Given the description of an element on the screen output the (x, y) to click on. 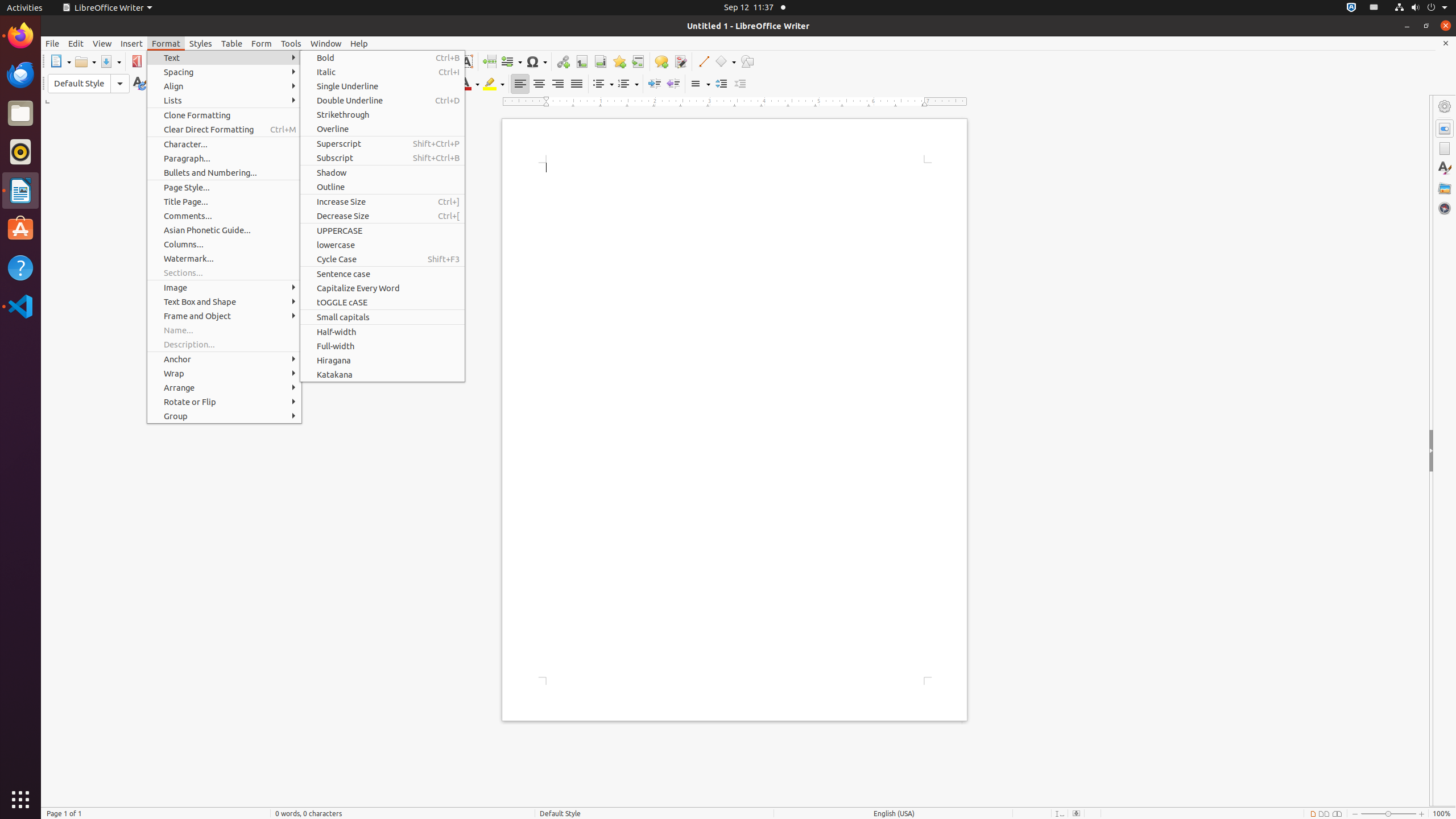
Draw Functions Element type: push-button (746, 61)
Columns... Element type: menu-item (224, 244)
Center Element type: toggle-button (538, 83)
Rhythmbox Element type: push-button (20, 151)
Show Applications Element type: toggle-button (20, 799)
